Given the description of an element on the screen output the (x, y) to click on. 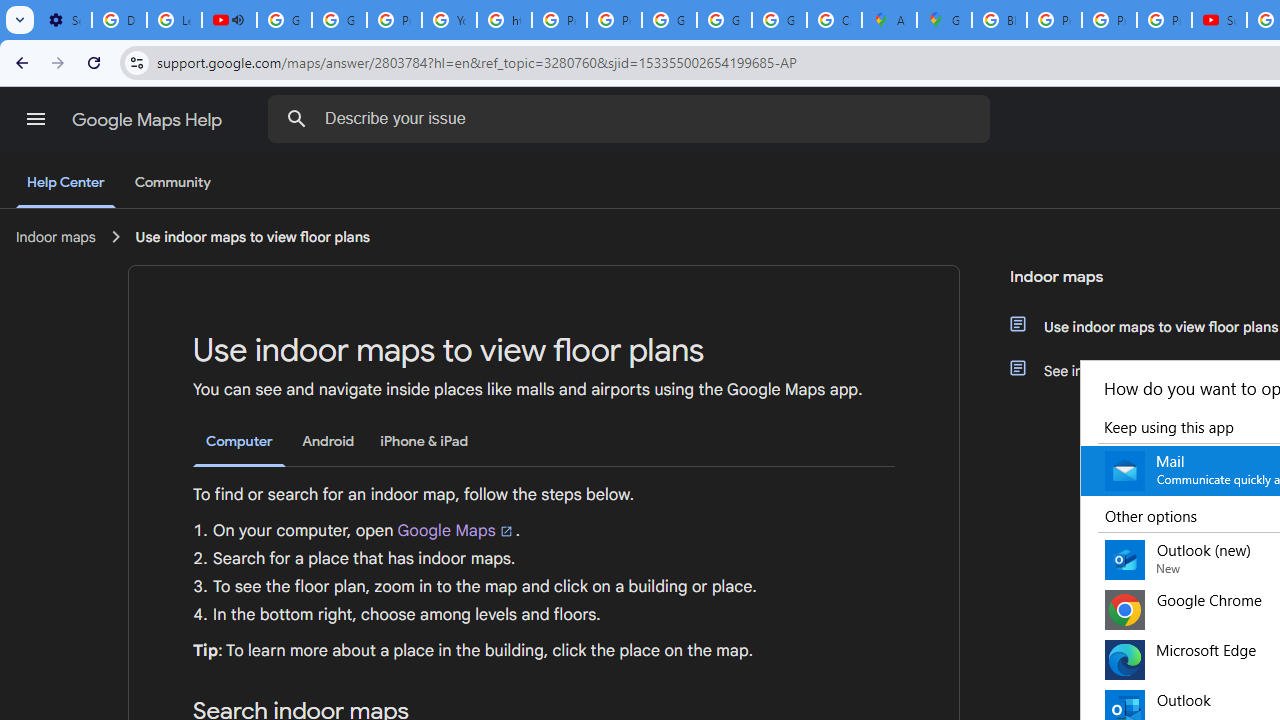
Blogger Policies and Guidelines - Transparency Center (998, 20)
Google Account Help (284, 20)
Privacy Help Center - Policies Help (394, 20)
Privacy Help Center - Policies Help (1108, 20)
Settings - Customize profile (64, 20)
Community (171, 183)
Describe your issue (632, 118)
Learn how to find your photos - Google Photos Help (174, 20)
Create your Google Account (833, 20)
